Given the description of an element on the screen output the (x, y) to click on. 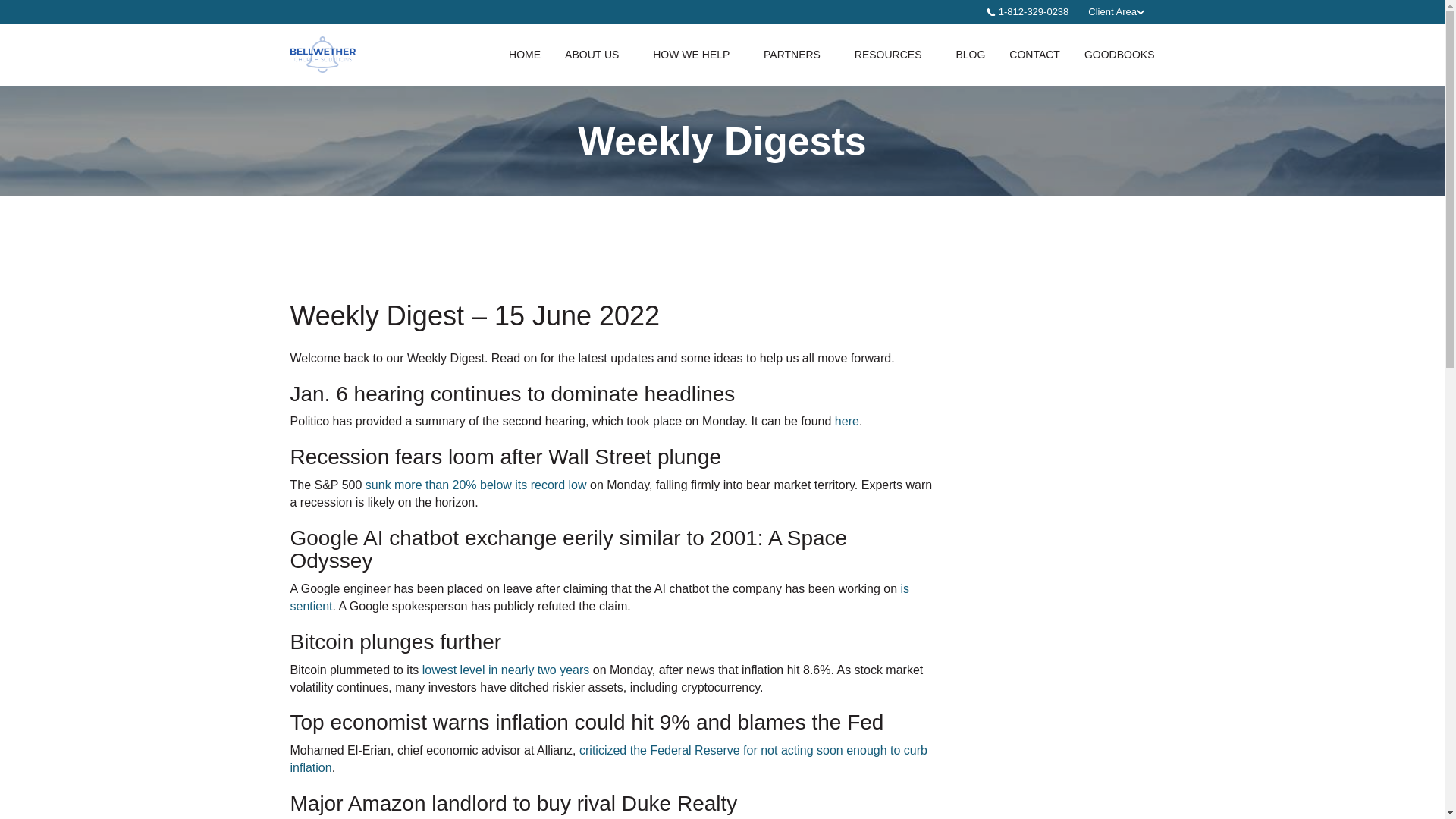
Client Area (1115, 11)
BLOG (970, 54)
ABOUT US  (596, 54)
RESOURCES  (893, 54)
Home (524, 54)
How We Help (695, 54)
HOW WE HELP  (695, 54)
PARTNERS  (797, 54)
About Us (596, 54)
Partners (797, 54)
HOME (524, 54)
1-812-329-0238 (1027, 12)
Resources (893, 54)
